Given the description of an element on the screen output the (x, y) to click on. 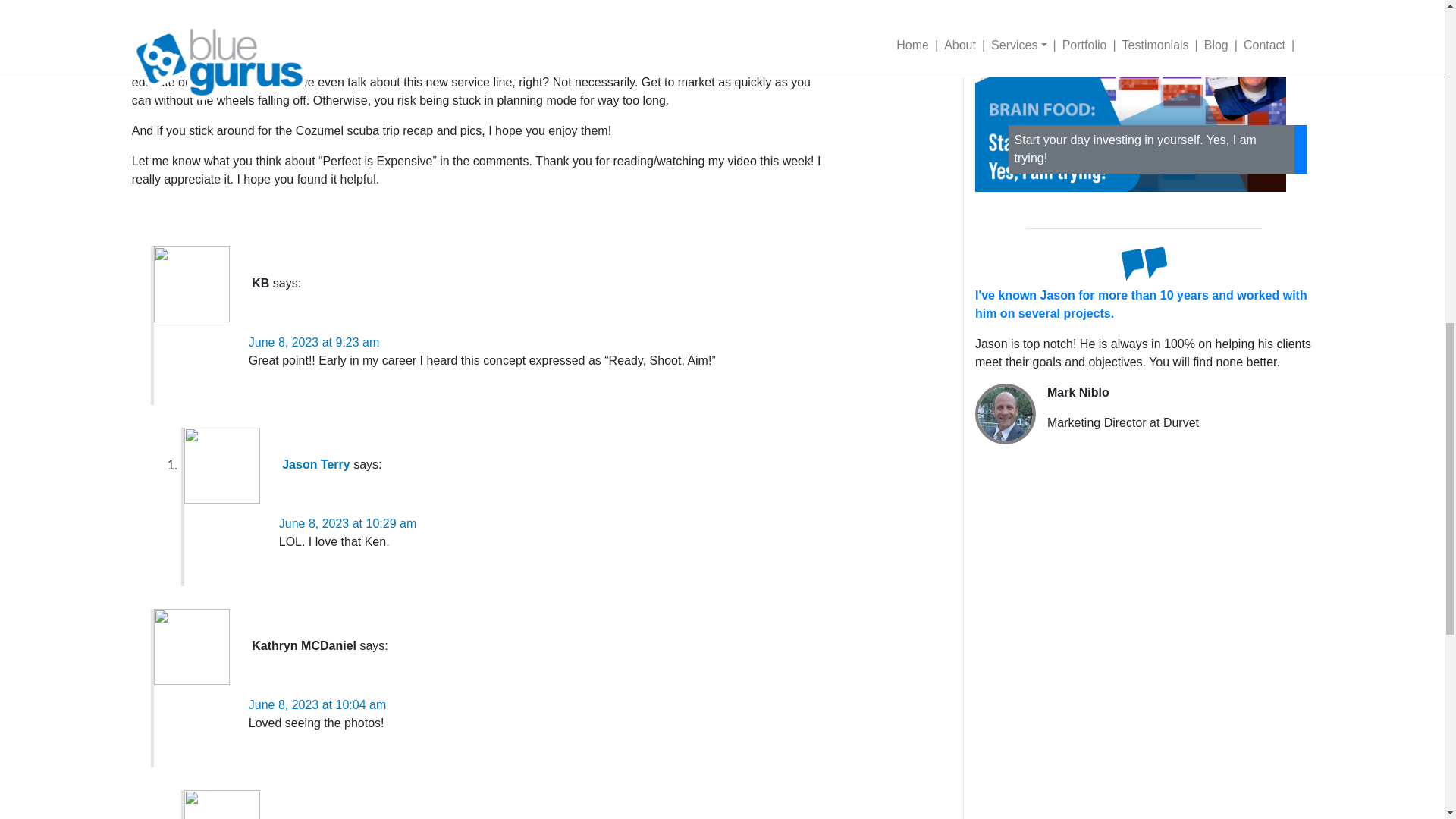
June 8, 2023 at 9:23 am (314, 341)
June 8, 2023 at 10:29 am (347, 522)
Jason Terry (316, 464)
June 8, 2023 at 10:04 am (316, 704)
